Given the description of an element on the screen output the (x, y) to click on. 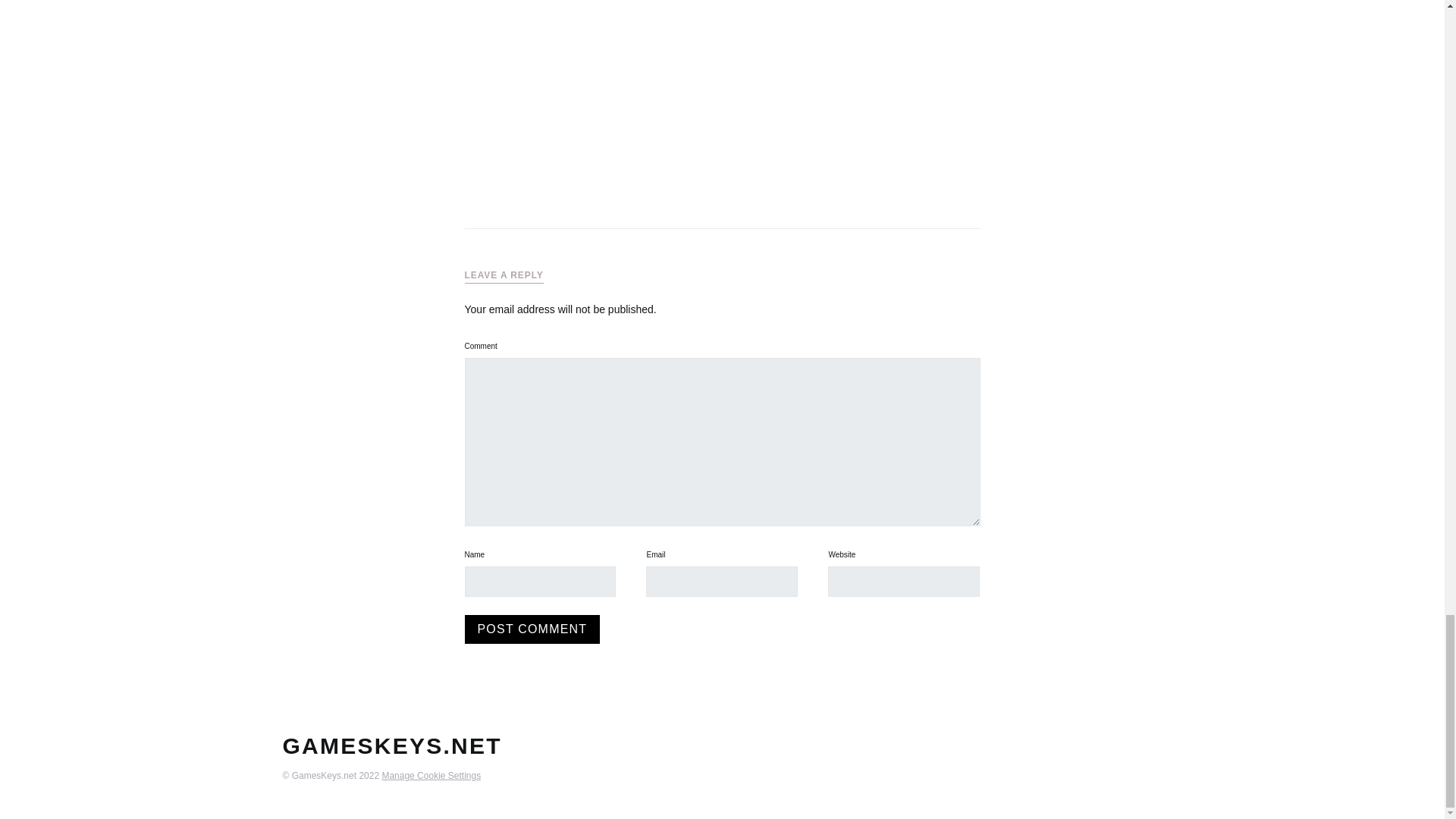
Post Comment (531, 629)
